Given the description of an element on the screen output the (x, y) to click on. 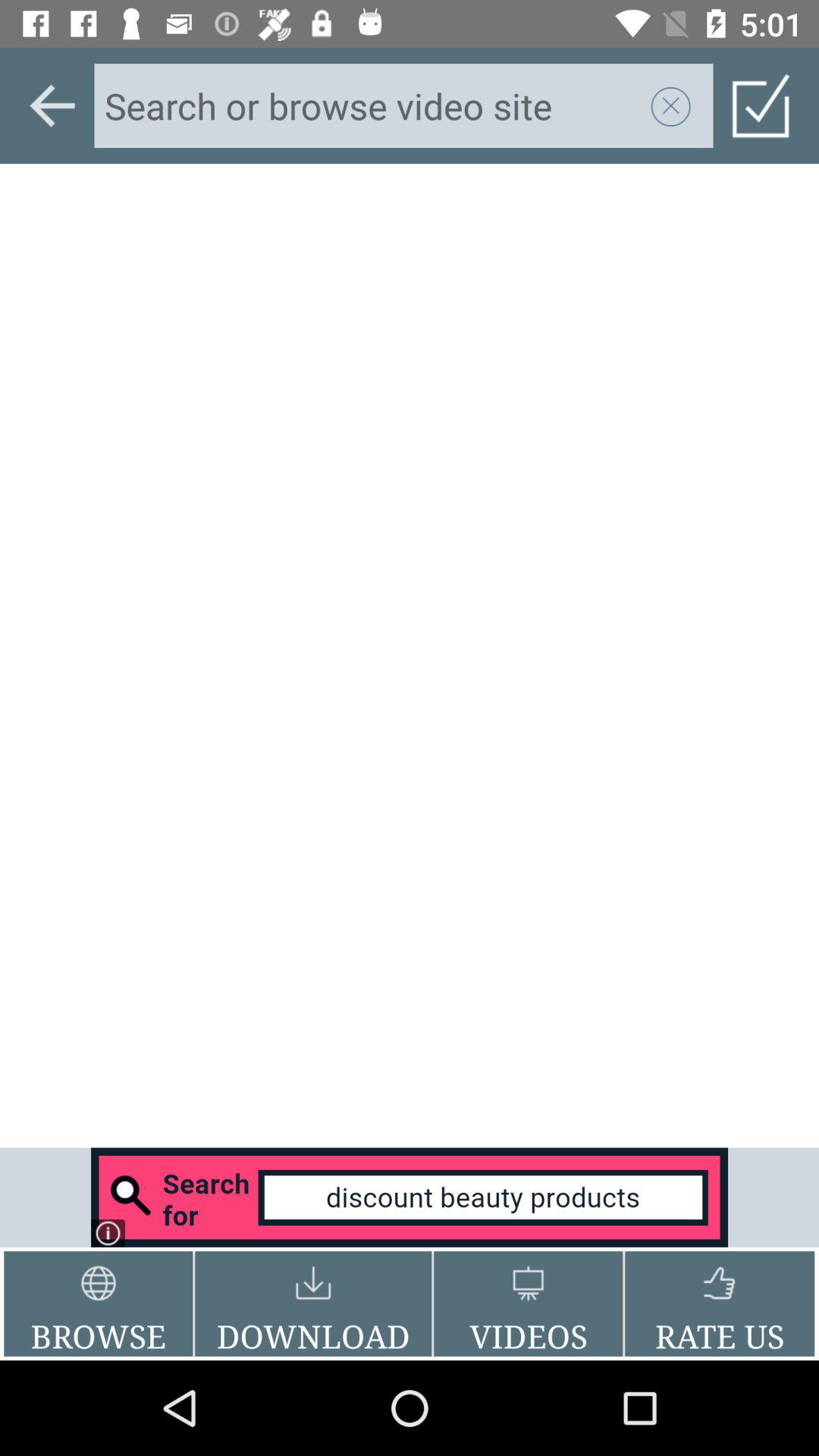
search a term (371, 105)
